Given the description of an element on the screen output the (x, y) to click on. 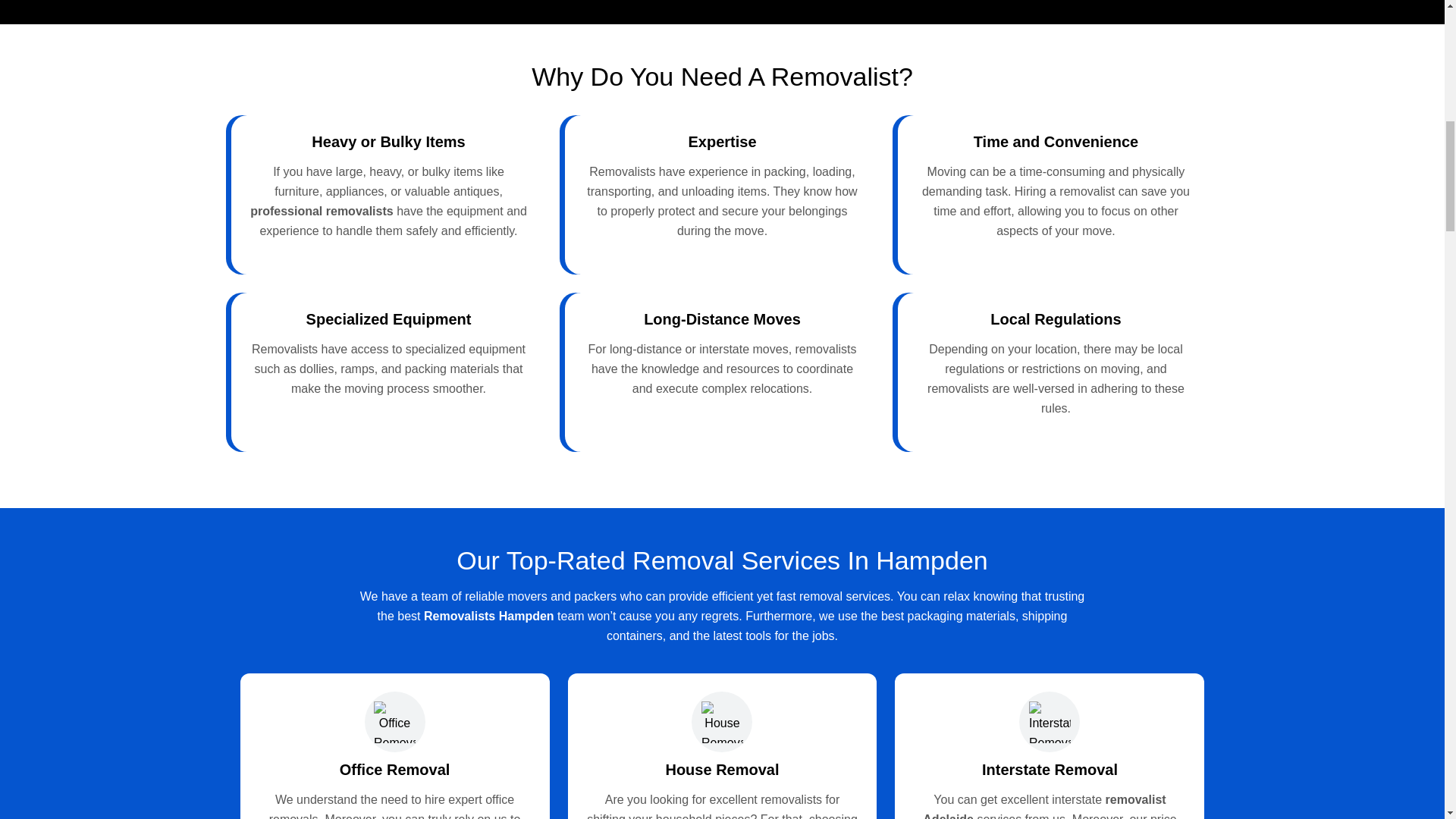
Office Removal (394, 769)
moving (363, 388)
House Removal (721, 769)
Interstate Removal (1049, 769)
